Given the description of an element on the screen output the (x, y) to click on. 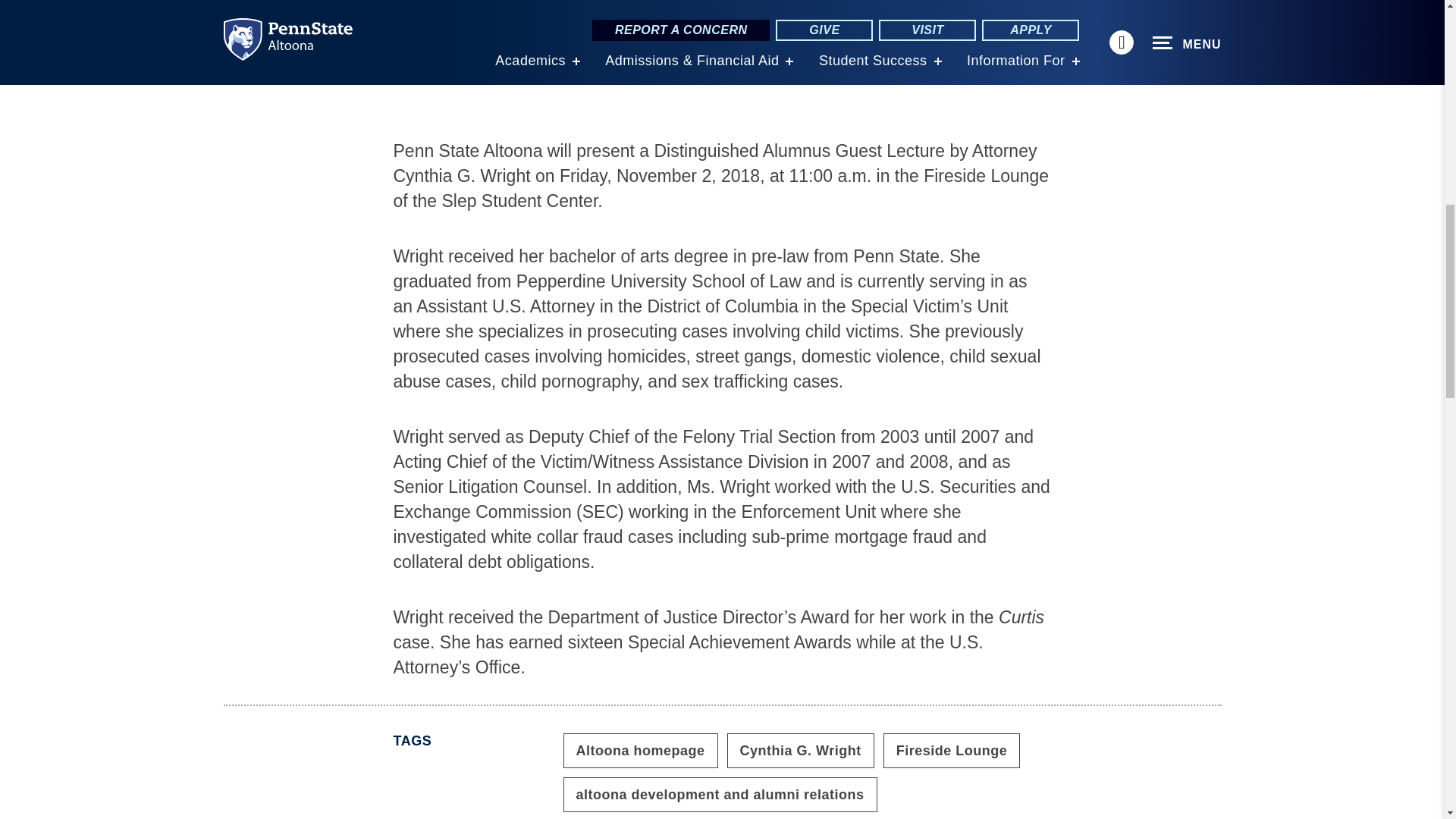
Content tagged with Cynthia G. Wright (800, 750)
Content tagged with altoona development and alumni relations (719, 794)
Content tagged with Altoona homepage (639, 750)
Content tagged with Fireside Lounge (951, 750)
